Given the description of an element on the screen output the (x, y) to click on. 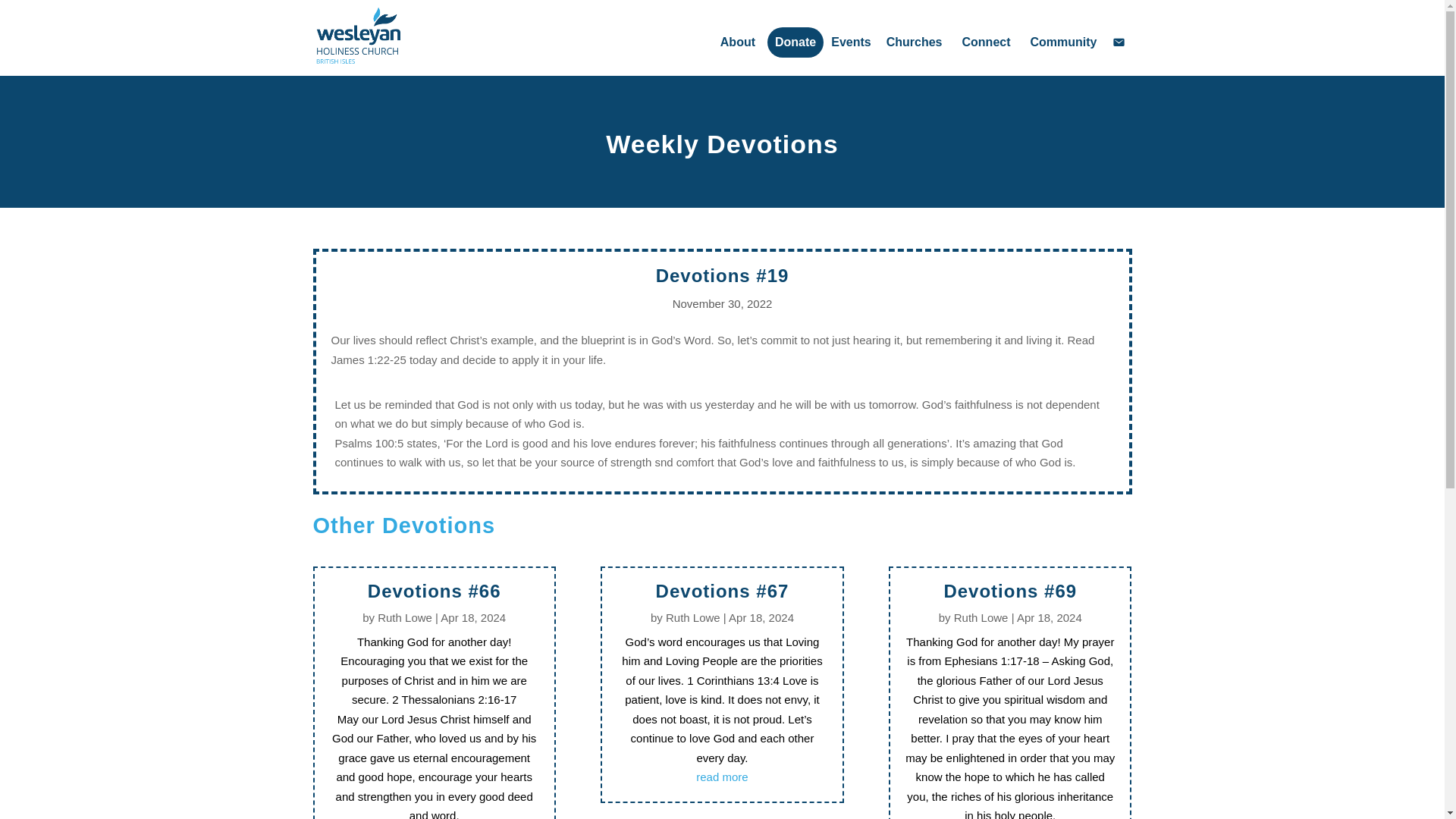
Posts by Ruth Lowe (692, 617)
Posts by Ruth Lowe (404, 617)
Churches (917, 42)
Events (850, 42)
About (740, 42)
Donate (795, 42)
Connect (987, 42)
Posts by Ruth Lowe (981, 617)
